Given the description of an element on the screen output the (x, y) to click on. 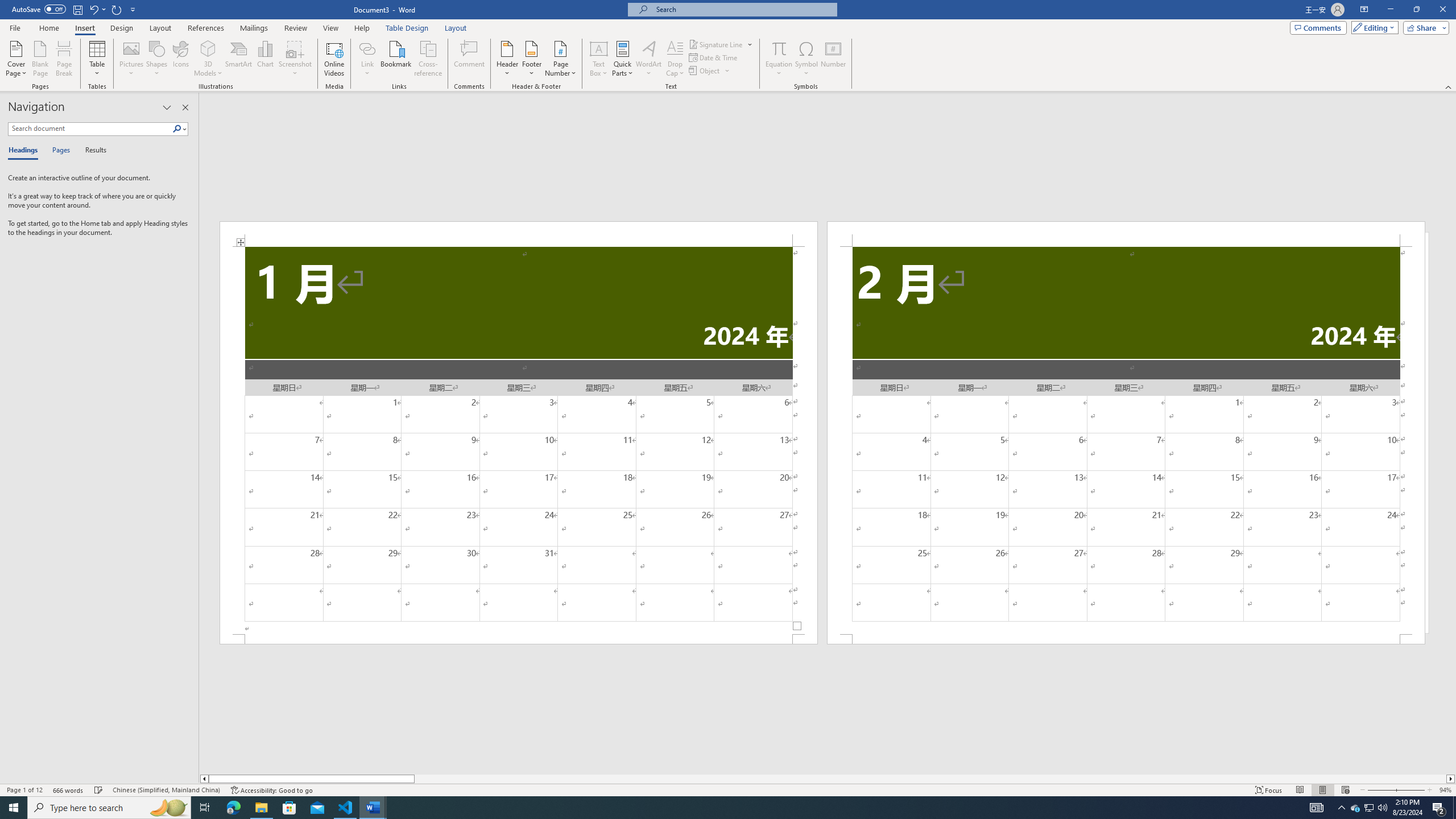
Page right (929, 778)
Icons (180, 58)
Undo Increase Indent (92, 9)
Restore Down (1416, 9)
Number... (833, 58)
Print Layout (1322, 790)
Search (177, 128)
Repeat Doc Close (117, 9)
Web Layout (1344, 790)
Word Count 666 words (68, 790)
View (330, 28)
Class: MsoCommandBar (728, 789)
Save (77, 9)
